Given the description of an element on the screen output the (x, y) to click on. 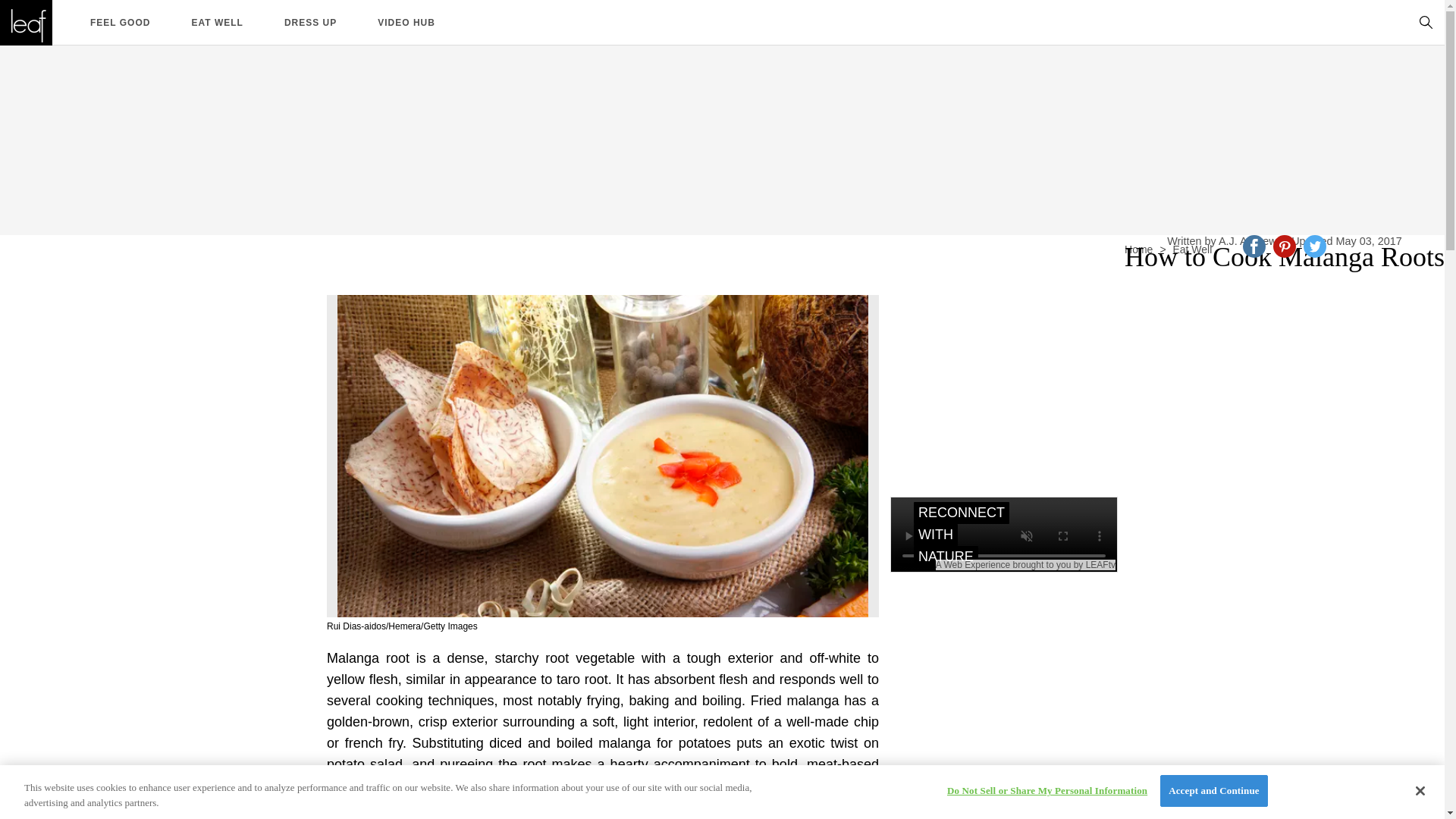
VIDEO HUB (406, 21)
FEEL GOOD (119, 21)
3rd party ad content (1003, 678)
3rd party ad content (721, 79)
DRESS UP (309, 21)
EAT WELL (216, 21)
3rd party ad content (1003, 389)
